Given the description of an element on the screen output the (x, y) to click on. 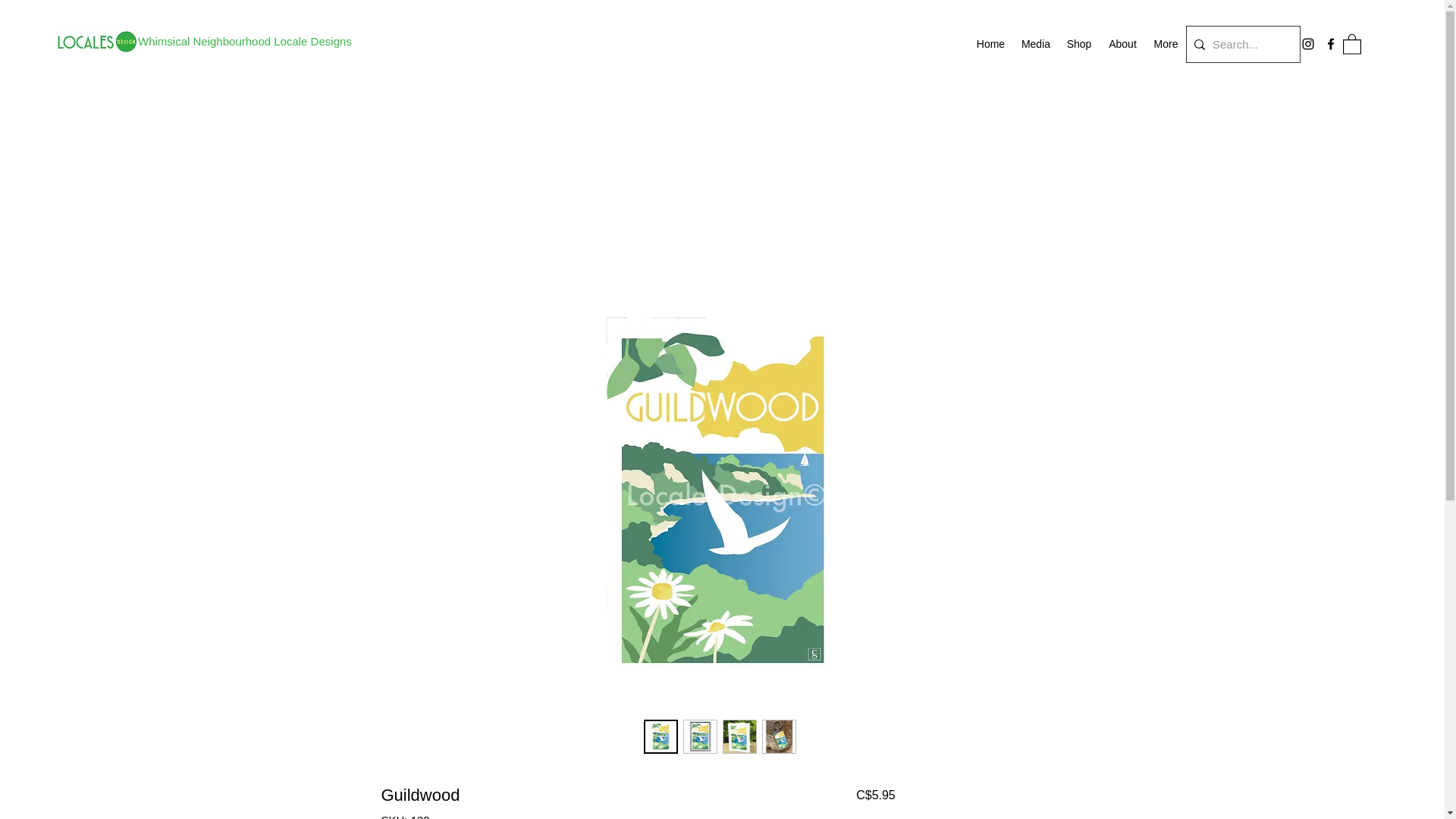
Shop (1078, 44)
Media (1035, 44)
About (1122, 44)
Home (990, 44)
